Given the description of an element on the screen output the (x, y) to click on. 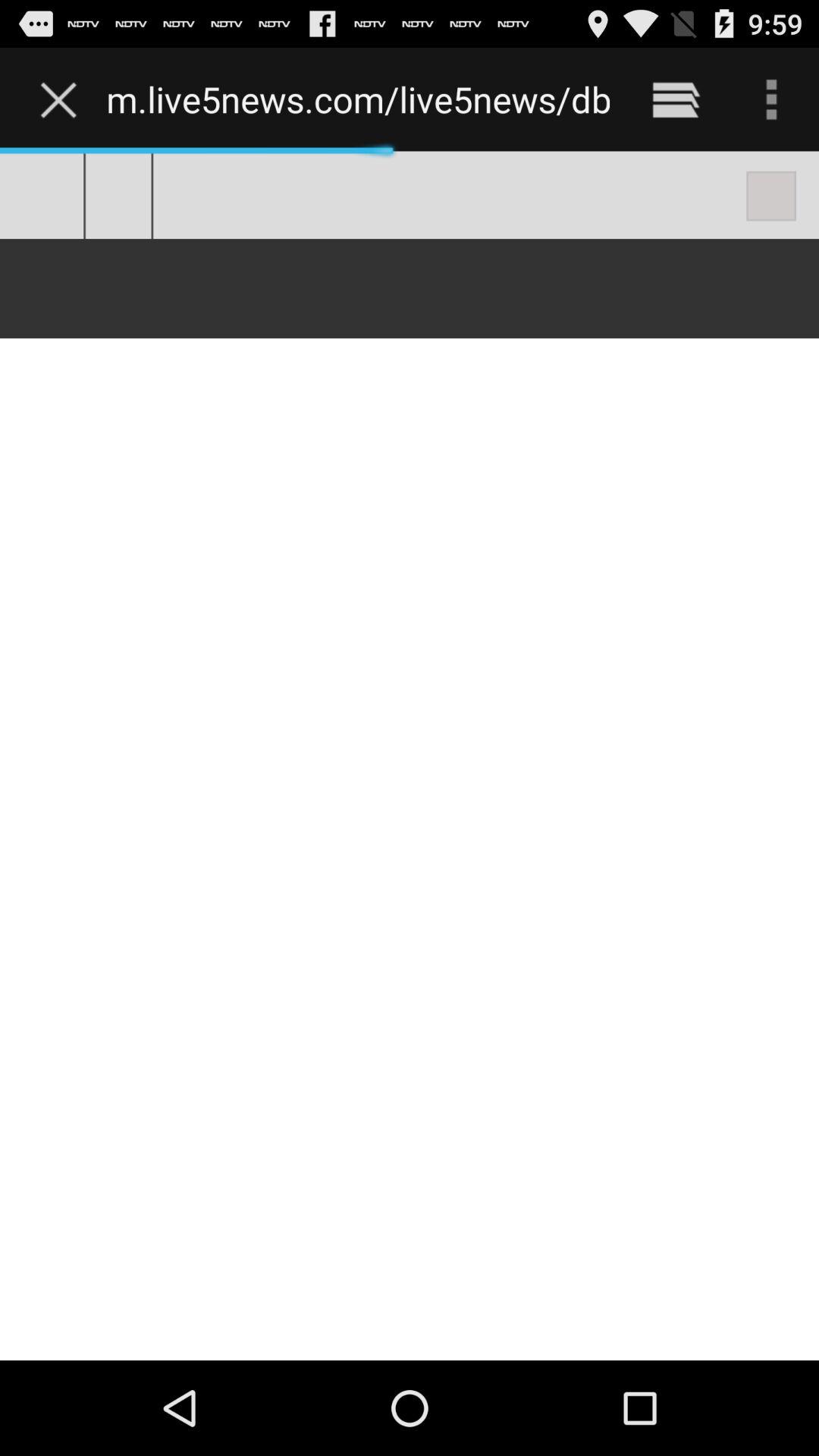
turn off icon to the left of the m live5news com item (62, 99)
